Given the description of an element on the screen output the (x, y) to click on. 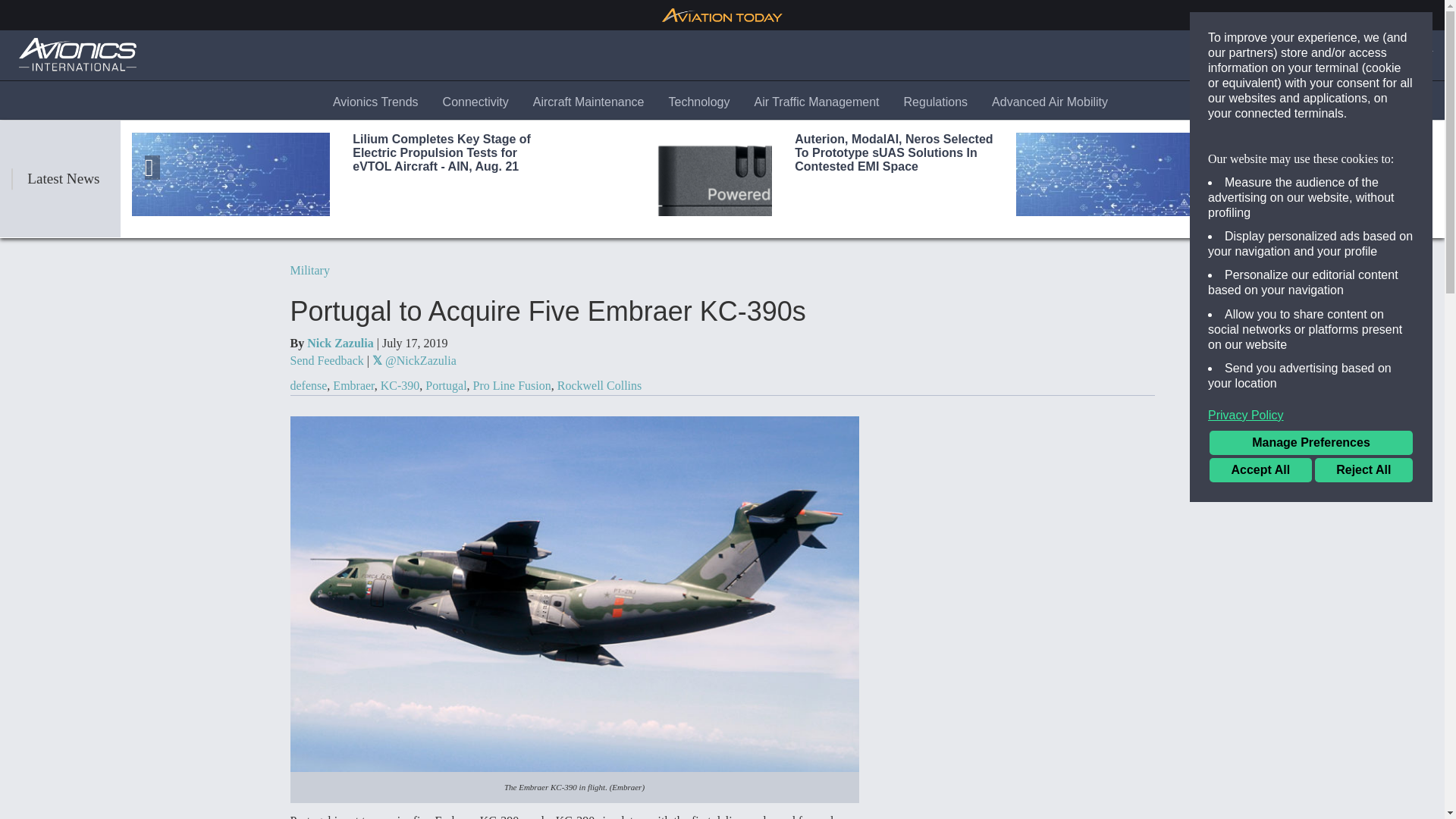
Search (1274, 55)
Manage Preferences (1310, 442)
Author Twitter (414, 359)
Privacy Policy (1310, 415)
Reject All (1363, 469)
Accept All (1260, 469)
Subscribe (1342, 55)
